Given the description of an element on the screen output the (x, y) to click on. 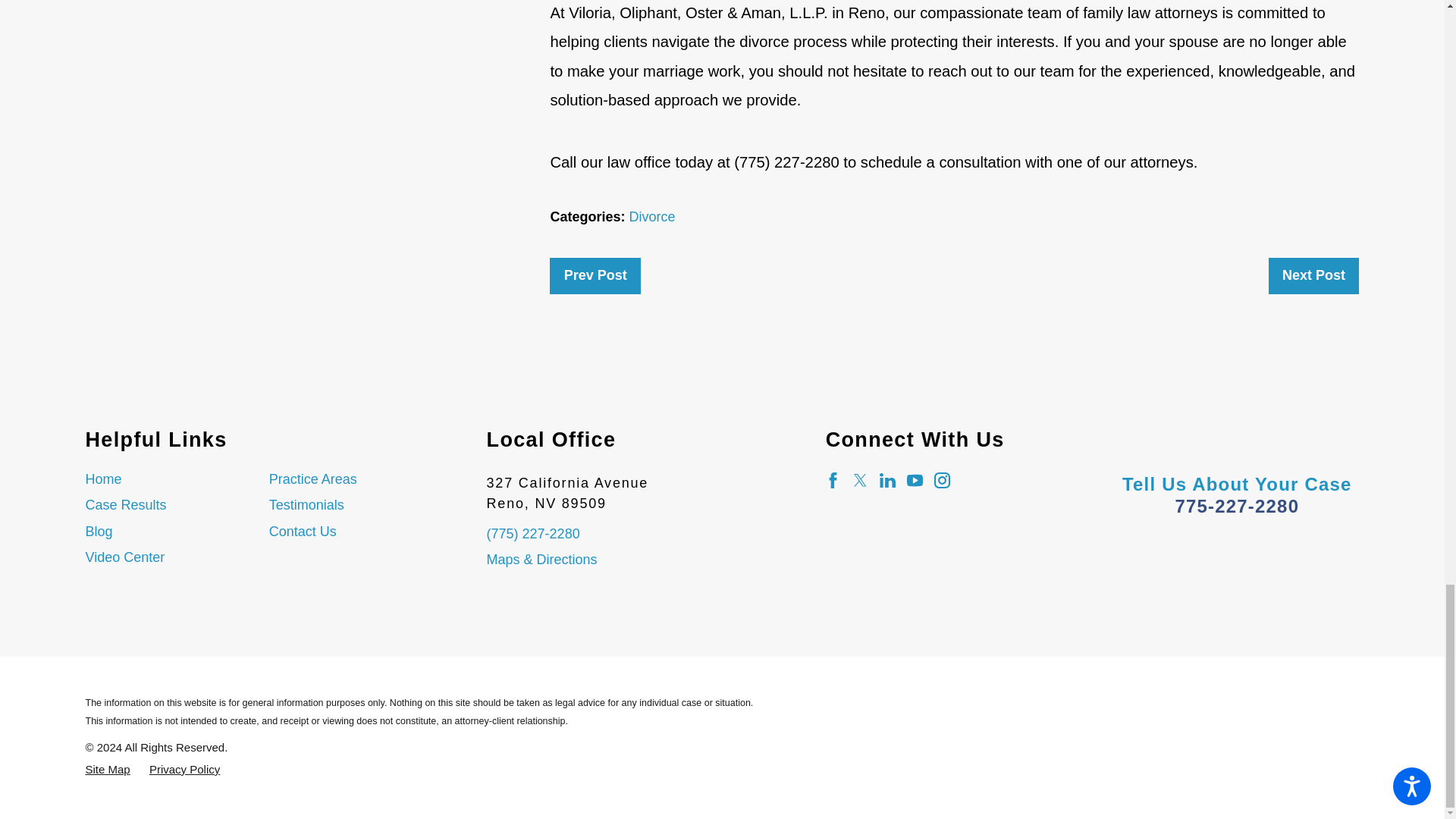
Instagram (942, 480)
Facebook (833, 480)
LinkedIn (887, 480)
YouTube (915, 480)
Twitter (859, 480)
